Given the description of an element on the screen output the (x, y) to click on. 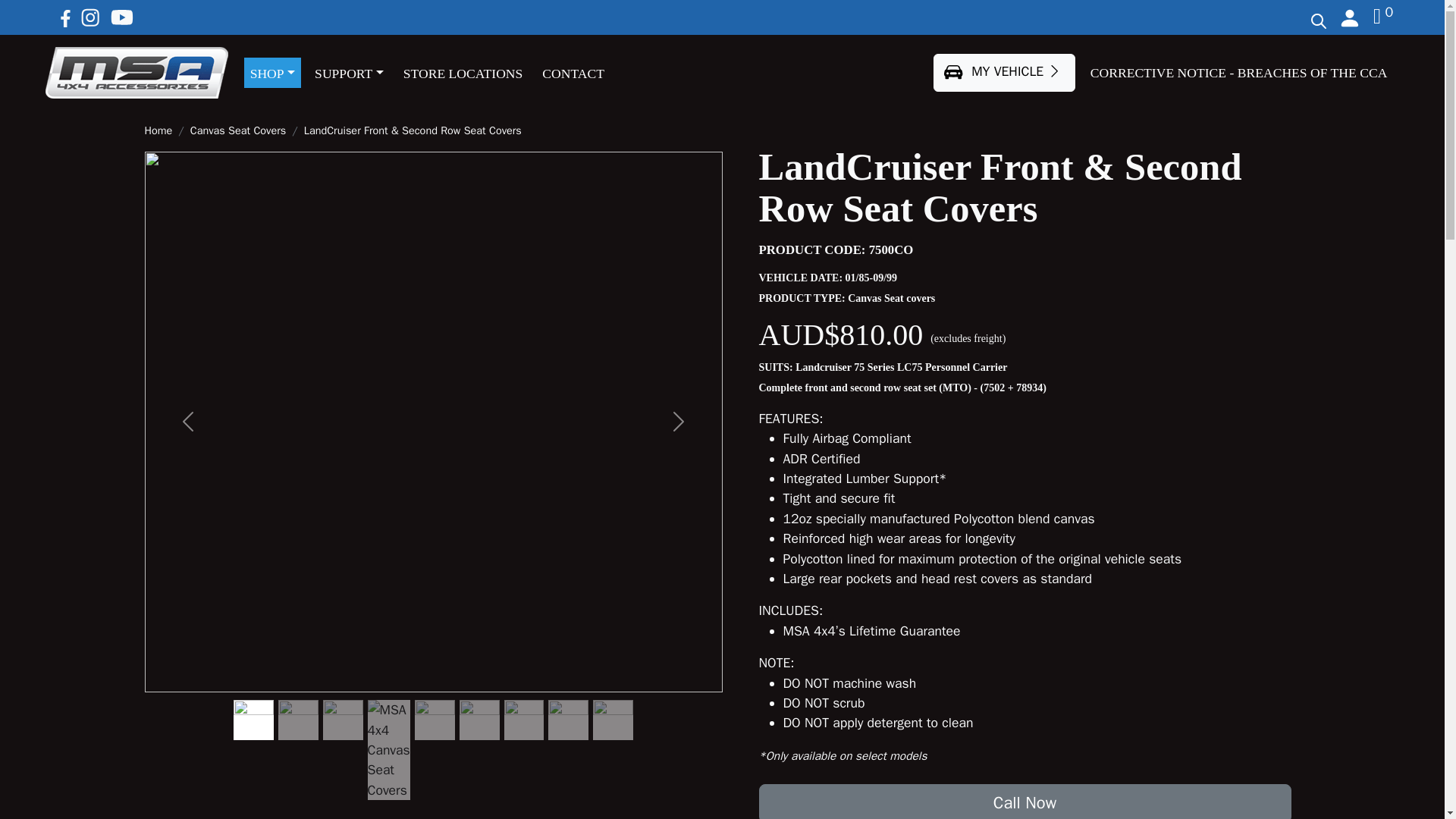
MY VEHICLE (1003, 72)
Canvas Seat Covers (237, 130)
Call Now (1024, 801)
Home (157, 130)
CONTACT (572, 72)
STORE LOCATIONS (463, 72)
CORRECTIVE NOTICE - BREACHES OF THE CCA (1238, 72)
Start shopping (1383, 18)
CORRECTIVE NOTICE - BREACHES OF THE CCA (1238, 72)
SUPPORT (349, 72)
0 (1383, 18)
SHOP (272, 72)
